Given the description of an element on the screen output the (x, y) to click on. 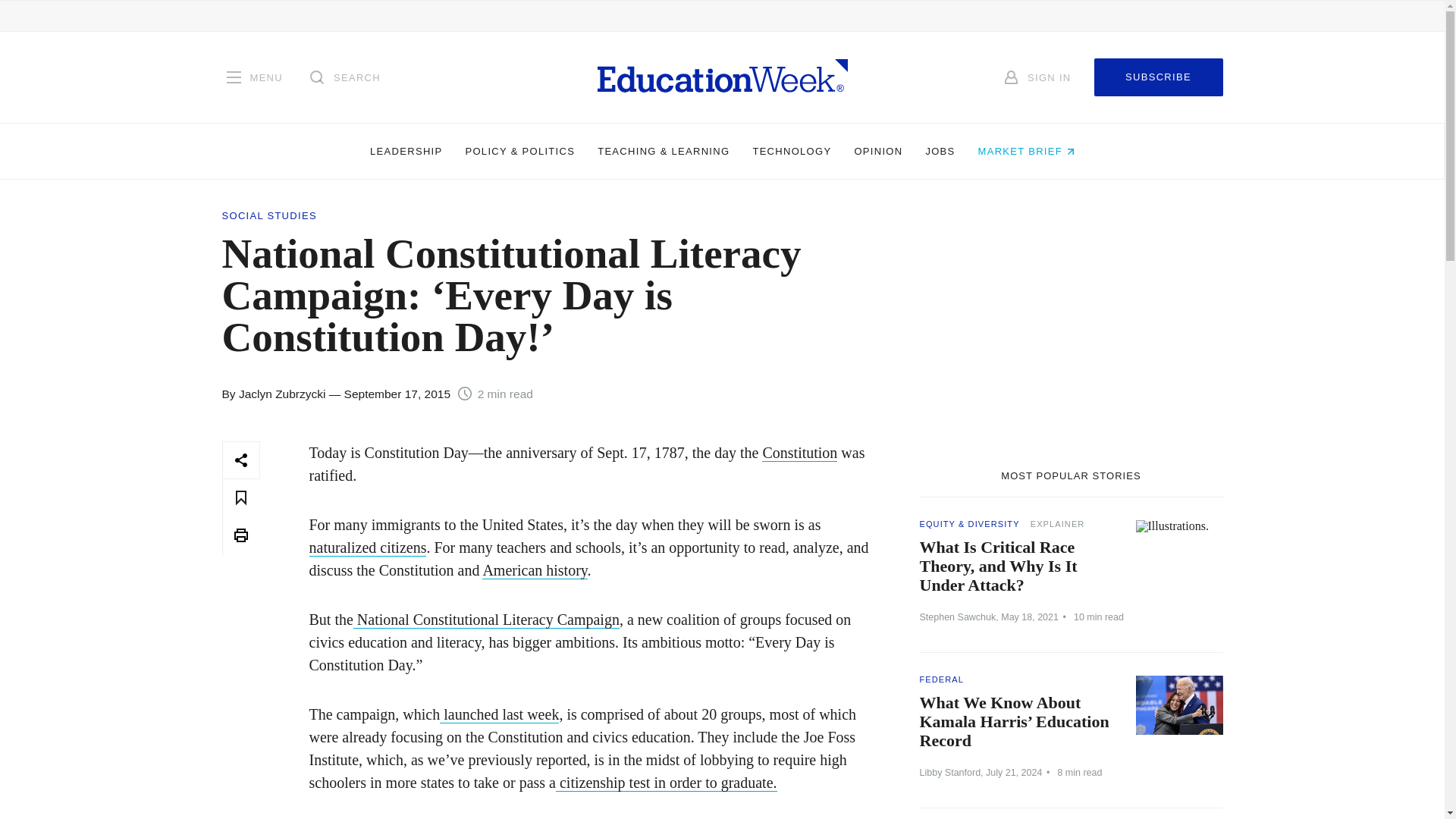
Homepage (721, 76)
